Given the description of an element on the screen output the (x, y) to click on. 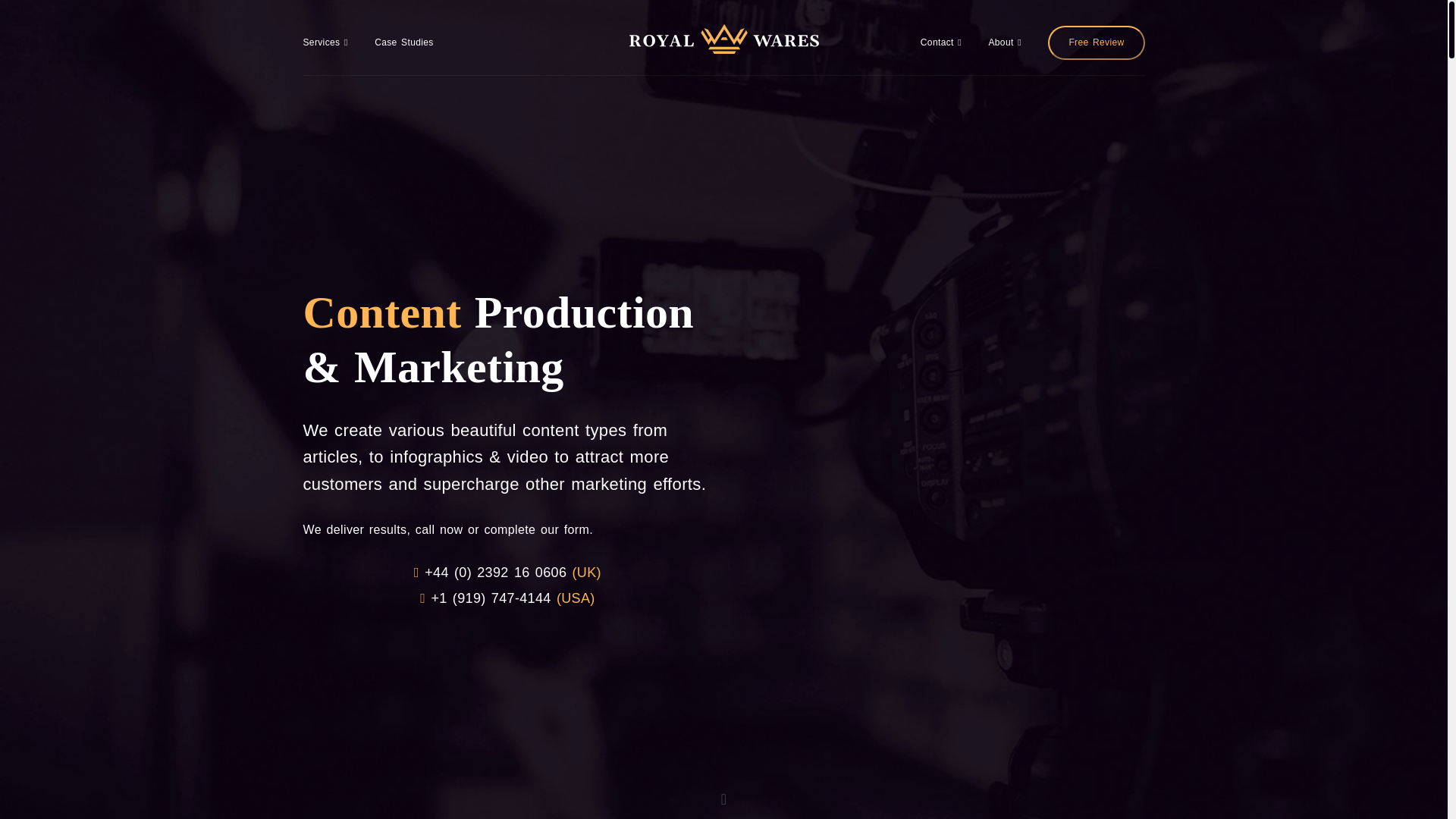
Free Review (1096, 42)
Case Studies (403, 43)
Contact (940, 43)
Services (324, 43)
About (1004, 43)
